Given the description of an element on the screen output the (x, y) to click on. 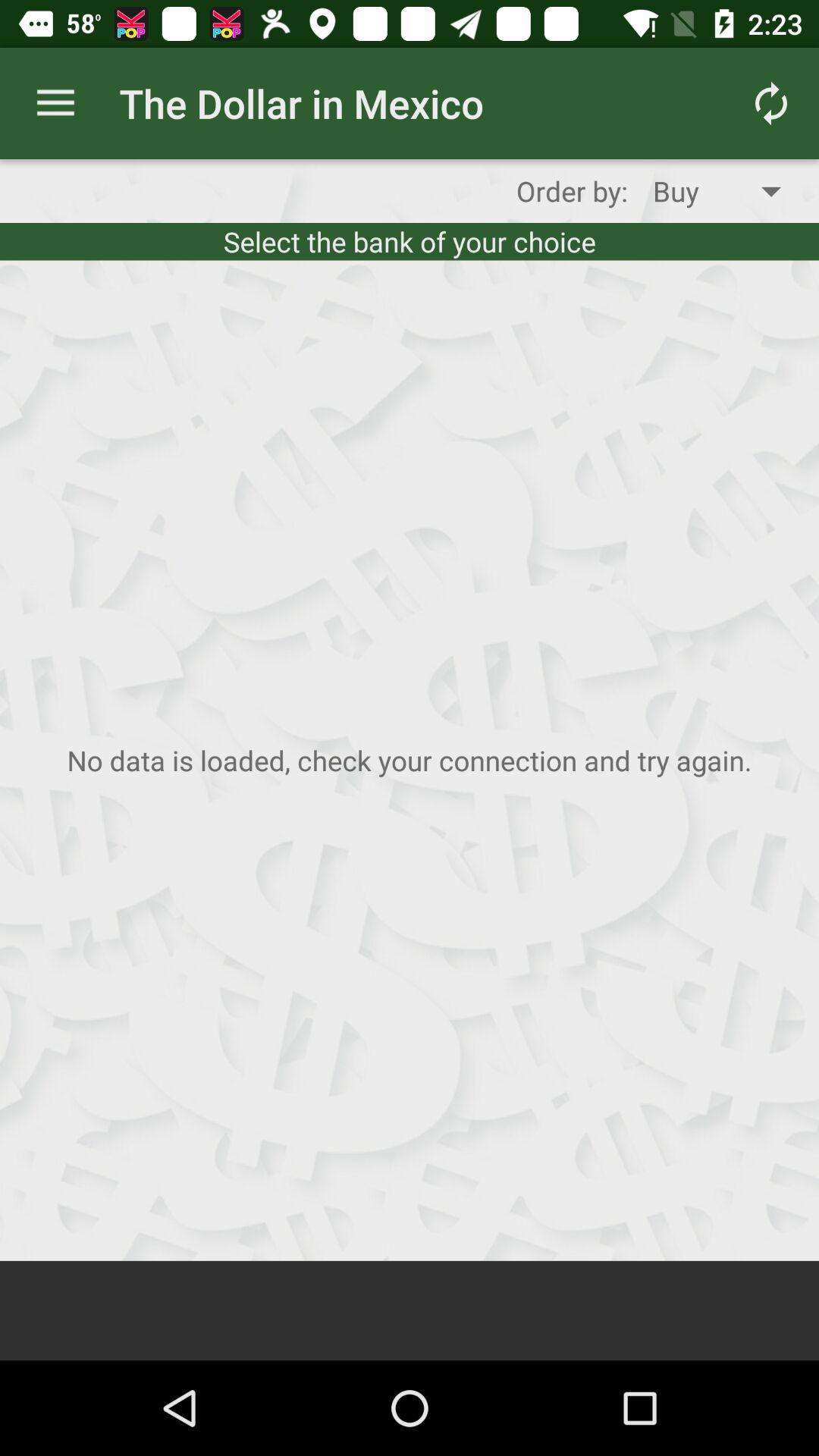
select the image (409, 760)
